Given the description of an element on the screen output the (x, y) to click on. 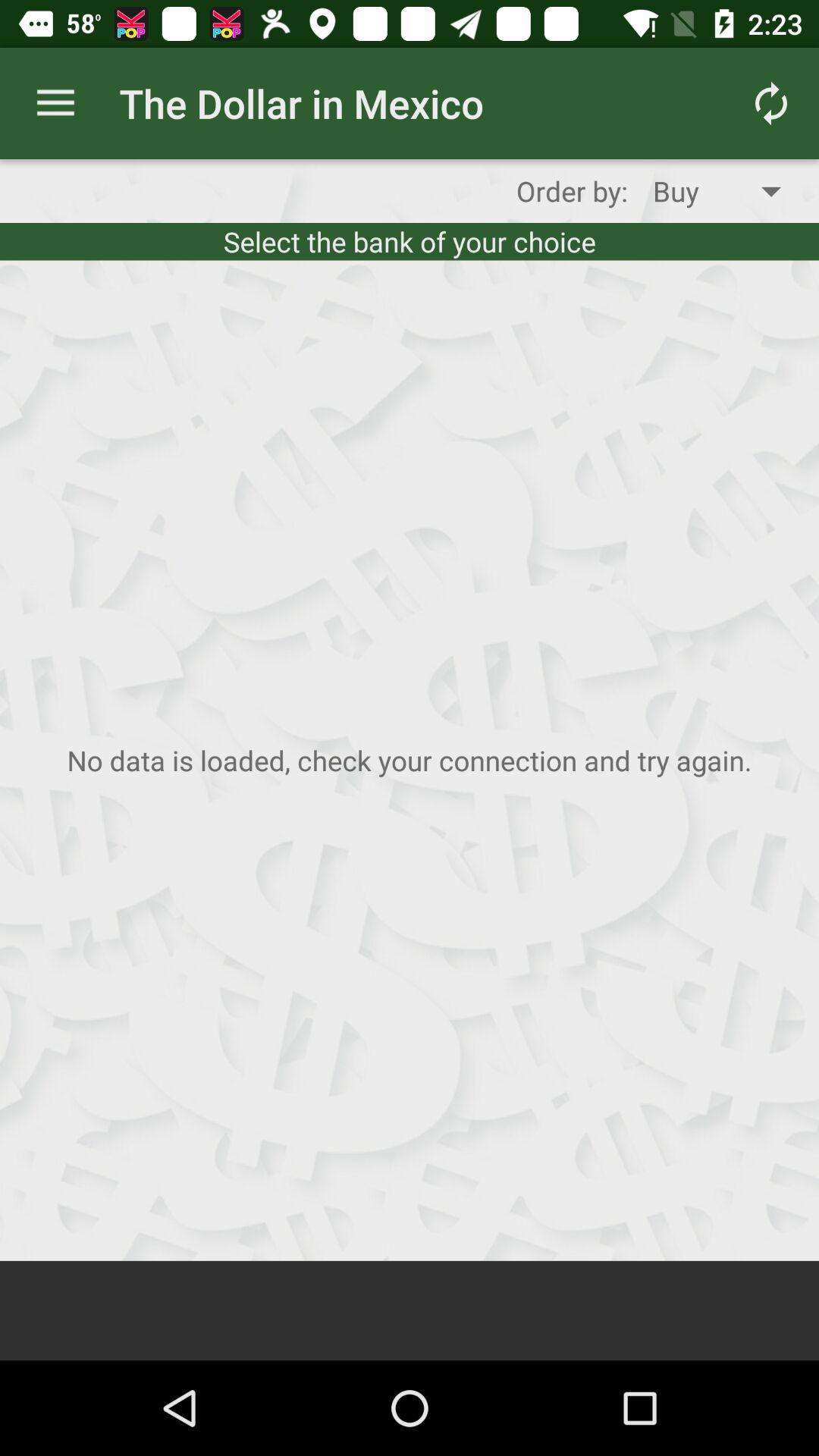
select the image (409, 760)
